Given the description of an element on the screen output the (x, y) to click on. 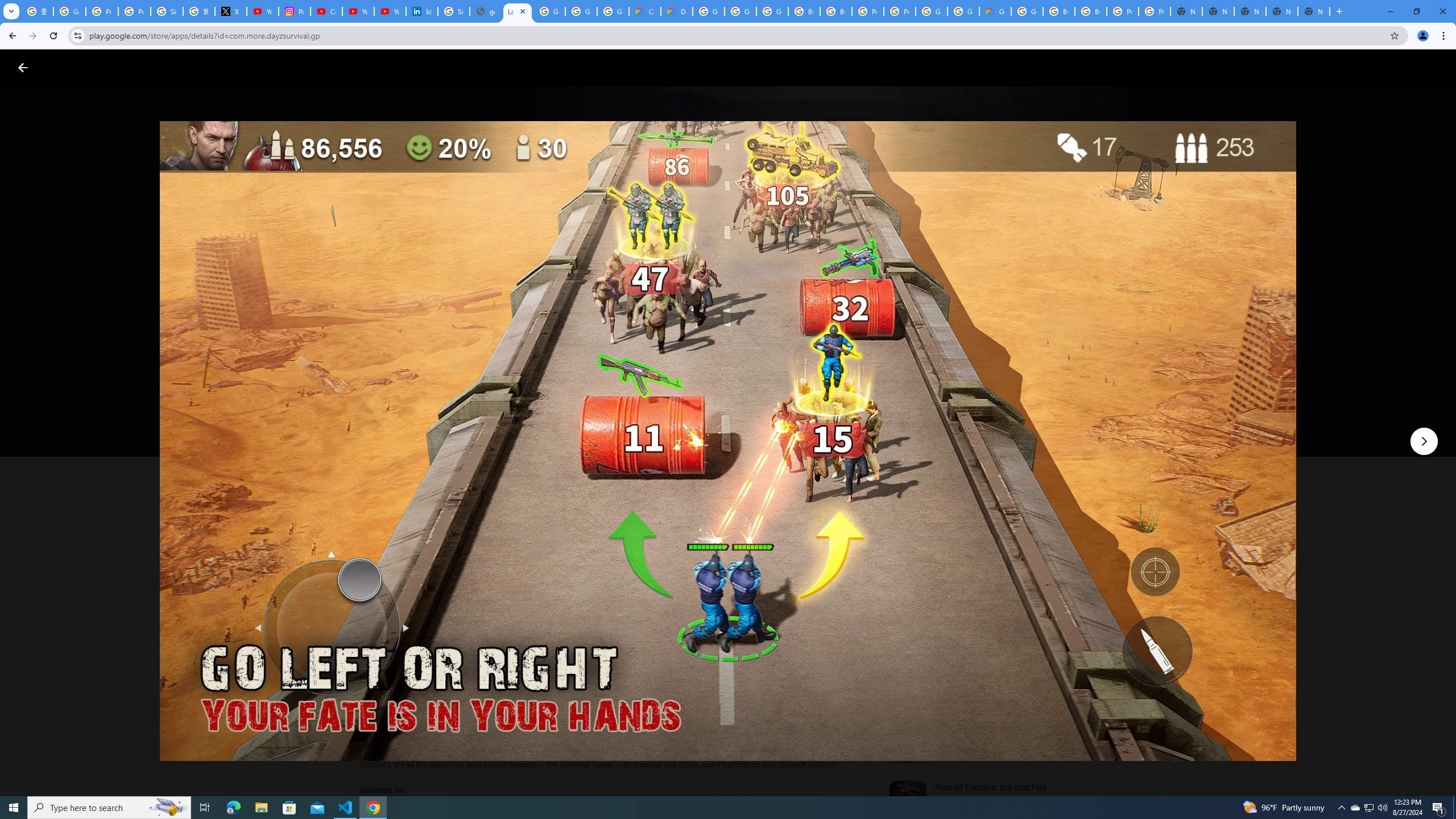
Games (141, 67)
See more information on Similar games (986, 539)
Long Tech Network Limited (417, 342)
YouTube Culture & Trends - YouTube Top 10, 2021 (389, 11)
Play trailer (1062, 423)
Google Cloud Estimate Summary (995, 11)
Privacy Help Center - Policies Help (134, 11)
Open account menu (1436, 67)
